Given the description of an element on the screen output the (x, y) to click on. 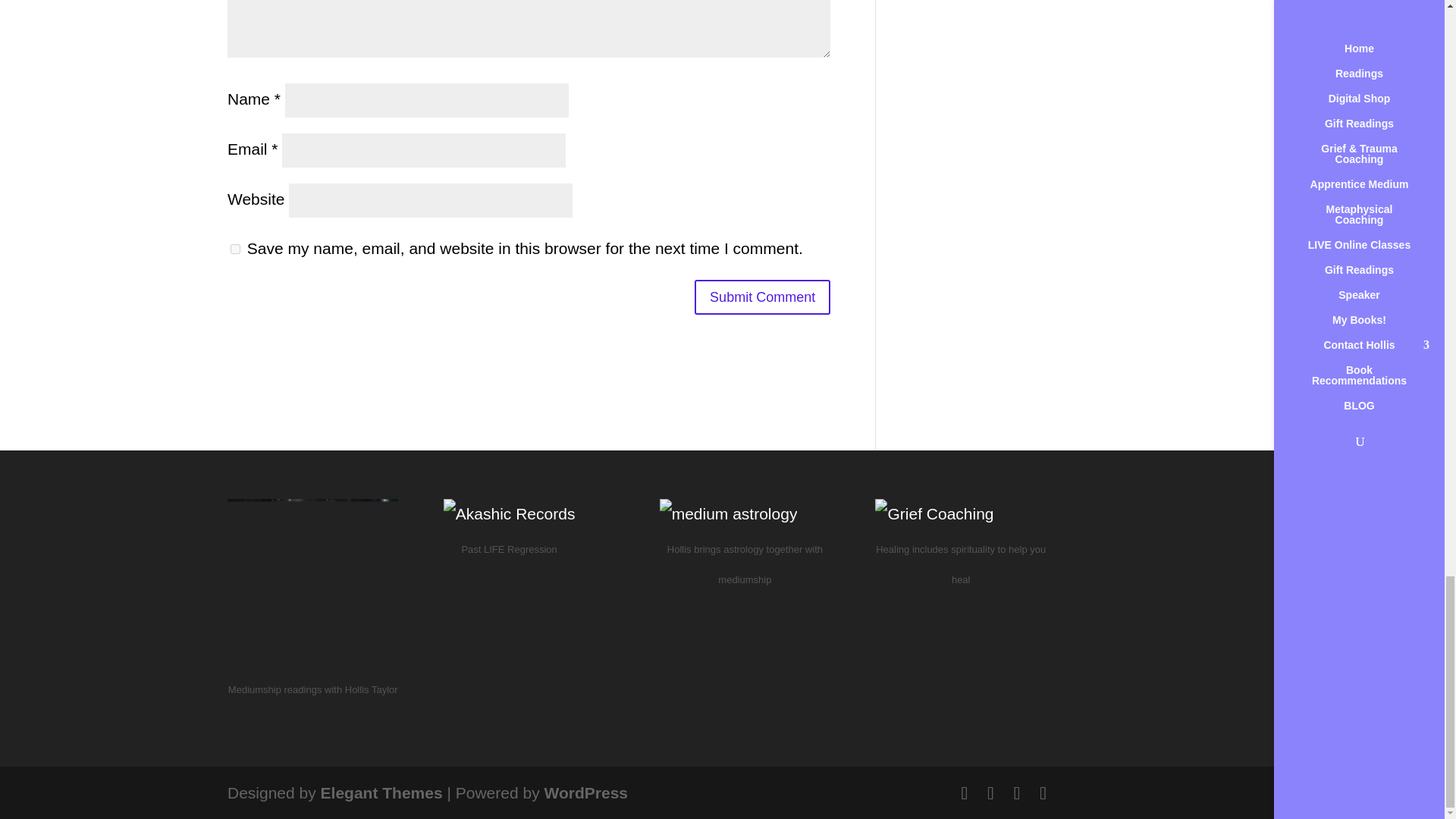
yes (235, 248)
Premium WordPress Themes (381, 792)
Submit Comment (761, 296)
Submit Comment (761, 296)
